Given the description of an element on the screen output the (x, y) to click on. 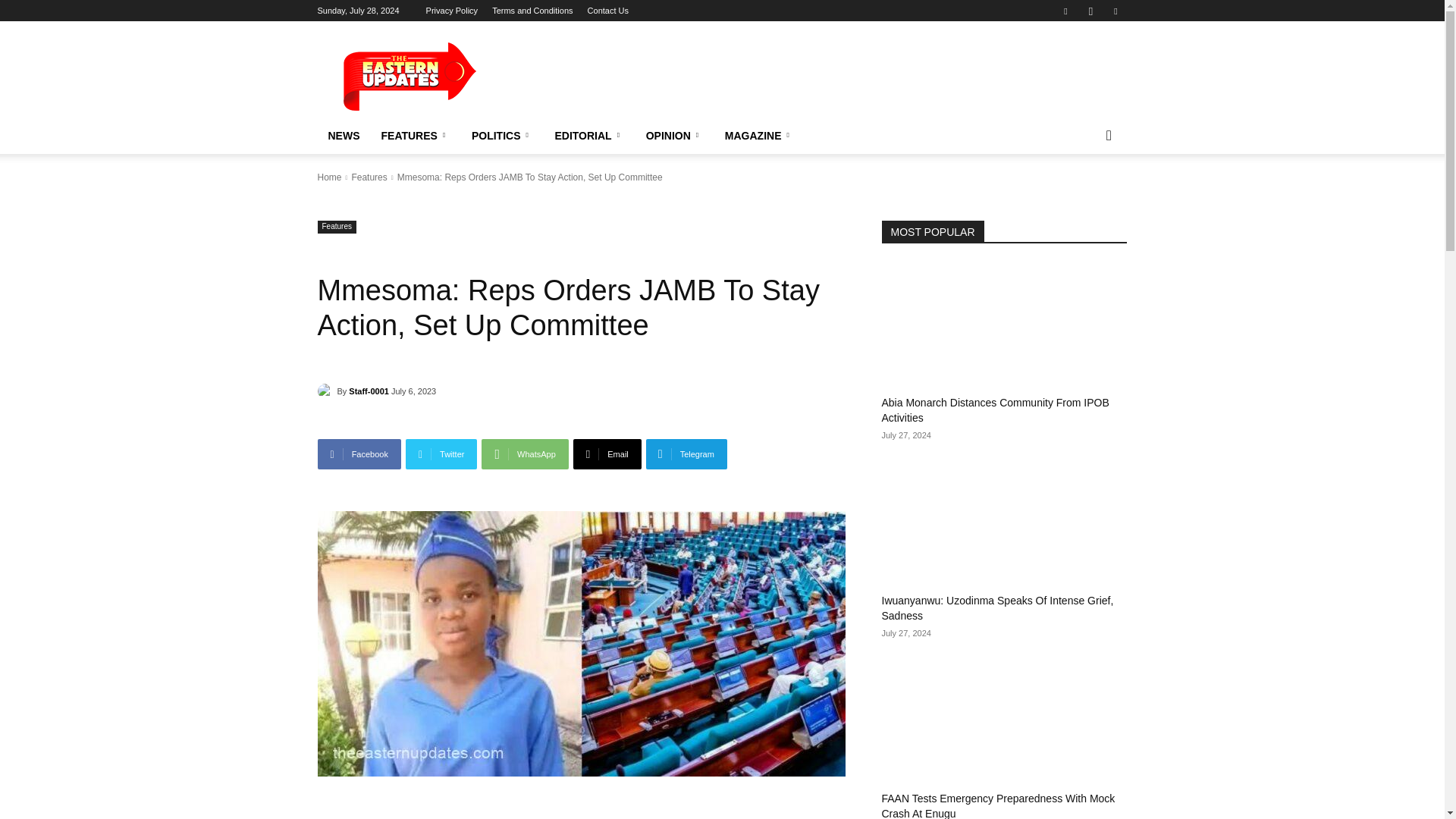
Privacy Policy (451, 10)
NEWS (343, 135)
Contact Us (608, 10)
Facebook (1065, 10)
The Eastern Updates (445, 76)
Terms and Conditions (532, 10)
FEATURES (414, 135)
Twitter (1114, 10)
Instagram (1090, 10)
